Given the description of an element on the screen output the (x, y) to click on. 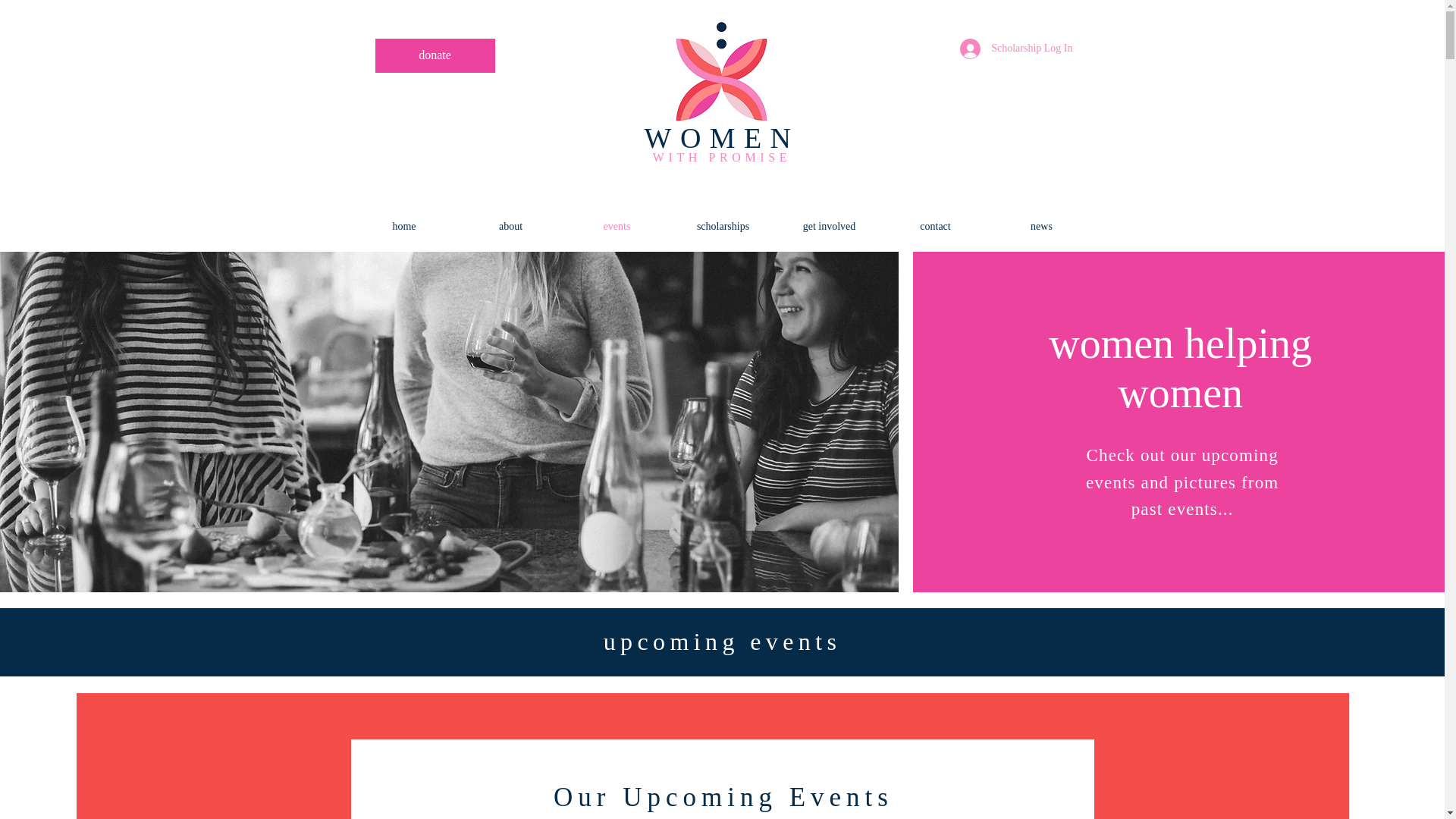
scholarships (722, 226)
contact (935, 226)
about (511, 226)
events (616, 226)
get involved (829, 226)
news (1041, 226)
Scholarship Log In (1016, 48)
donate (435, 55)
home (403, 226)
